Given the description of an element on the screen output the (x, y) to click on. 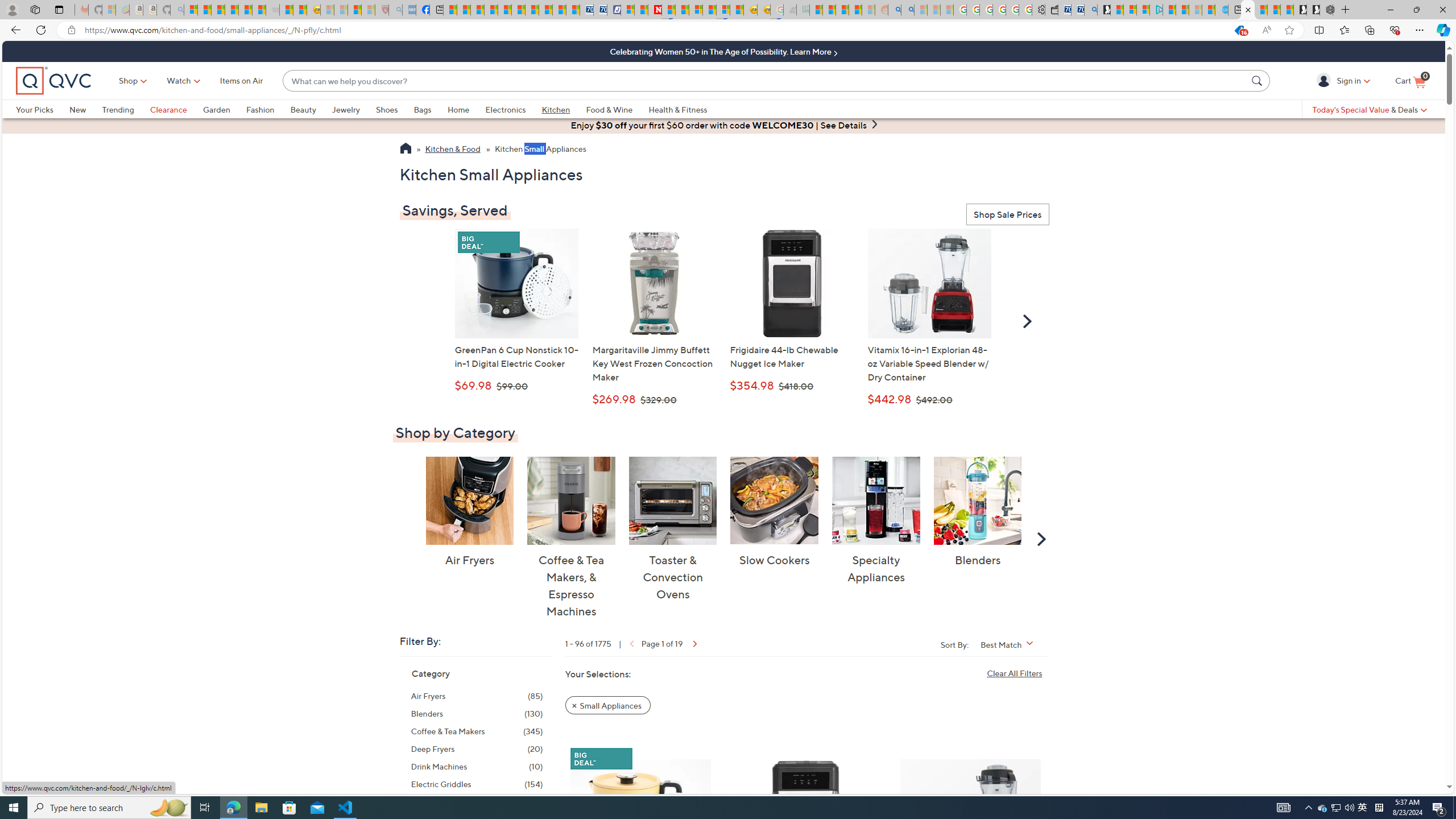
Clear All Filters (1017, 672)
Items on Air (241, 80)
Garden (224, 109)
Beauty (302, 109)
Remove Filter: Small Appliances (607, 705)
